Given the description of an element on the screen output the (x, y) to click on. 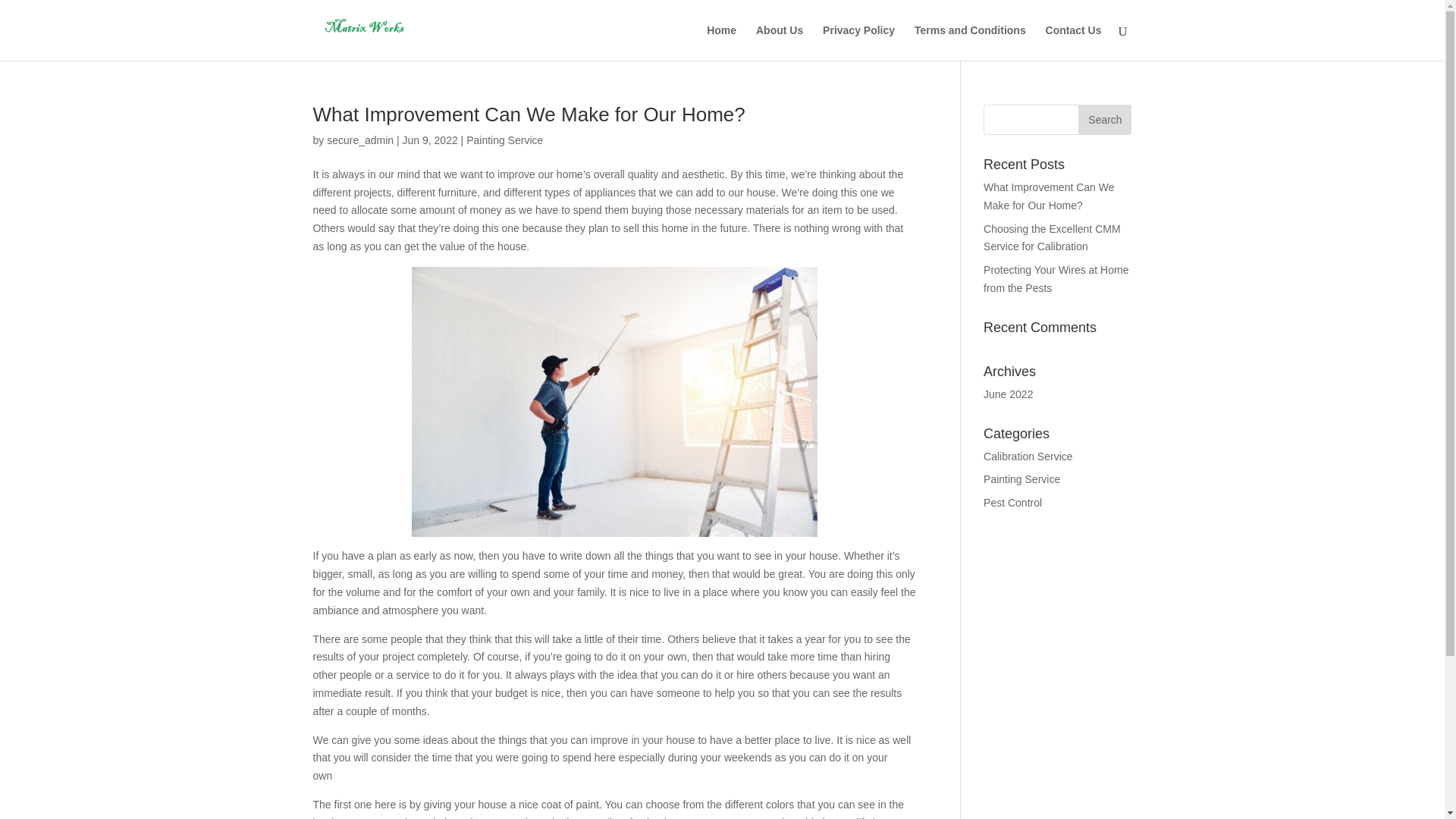
Search (1104, 119)
Contact Us (1073, 42)
Search (1104, 119)
Terms and Conditions (970, 42)
Painting Service (504, 140)
Calibration Service (1028, 456)
Painting Service (1021, 479)
Pest Control (1013, 502)
What Improvement Can We Make for Our Home?    (537, 114)
About Us (779, 42)
Protecting Your Wires at Home from the Pests    (1056, 278)
Privacy Policy (858, 42)
Choosing the Excellent CMM Service for Calibration    (1052, 237)
What Improvement Can We Make for Our Home?    (1048, 195)
June 2022 (1008, 394)
